Given the description of an element on the screen output the (x, y) to click on. 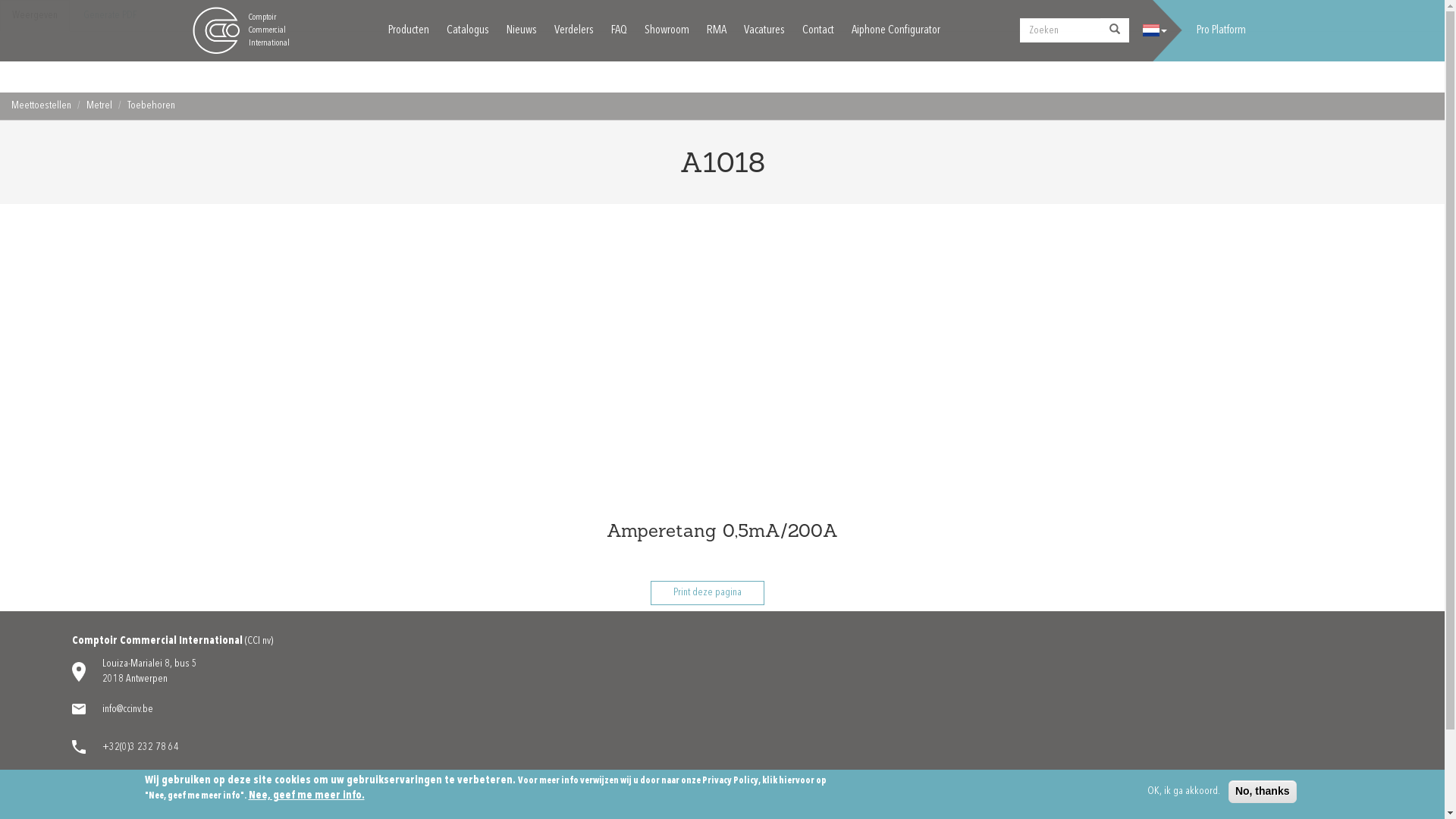
Catalogus Element type: text (466, 30)
Generate PDF Element type: text (109, 15)
Geef de woorden op waarnaar u wilt zoeken. Element type: hover (1059, 30)
OK, ik ga akkoord. Element type: text (1183, 791)
Print deze pagina Element type: text (707, 592)
Meettoestellen Element type: text (41, 105)
Aiphone Configurator Element type: text (895, 30)
Home Element type: hover (215, 30)
Overslaan en naar de inhoud gaan Element type: text (0, 0)
No, thanks Element type: text (1262, 791)
RMA Element type: text (716, 30)
info@ccinv.be Element type: text (127, 708)
FAQ Element type: text (618, 30)
Toebehoren Element type: text (151, 105)
Nee, geef me meer info. Element type: text (306, 795)
Zoeken Element type: text (1083, 47)
Showroom Element type: text (666, 30)
Weergeven
(actieve tabblad) Element type: text (34, 15)
Contact Element type: text (817, 30)
Verdelers Element type: text (573, 30)
Nieuws Element type: text (521, 30)
Metrel Element type: text (99, 105)
Vacatures Element type: text (763, 30)
